Given the description of an element on the screen output the (x, y) to click on. 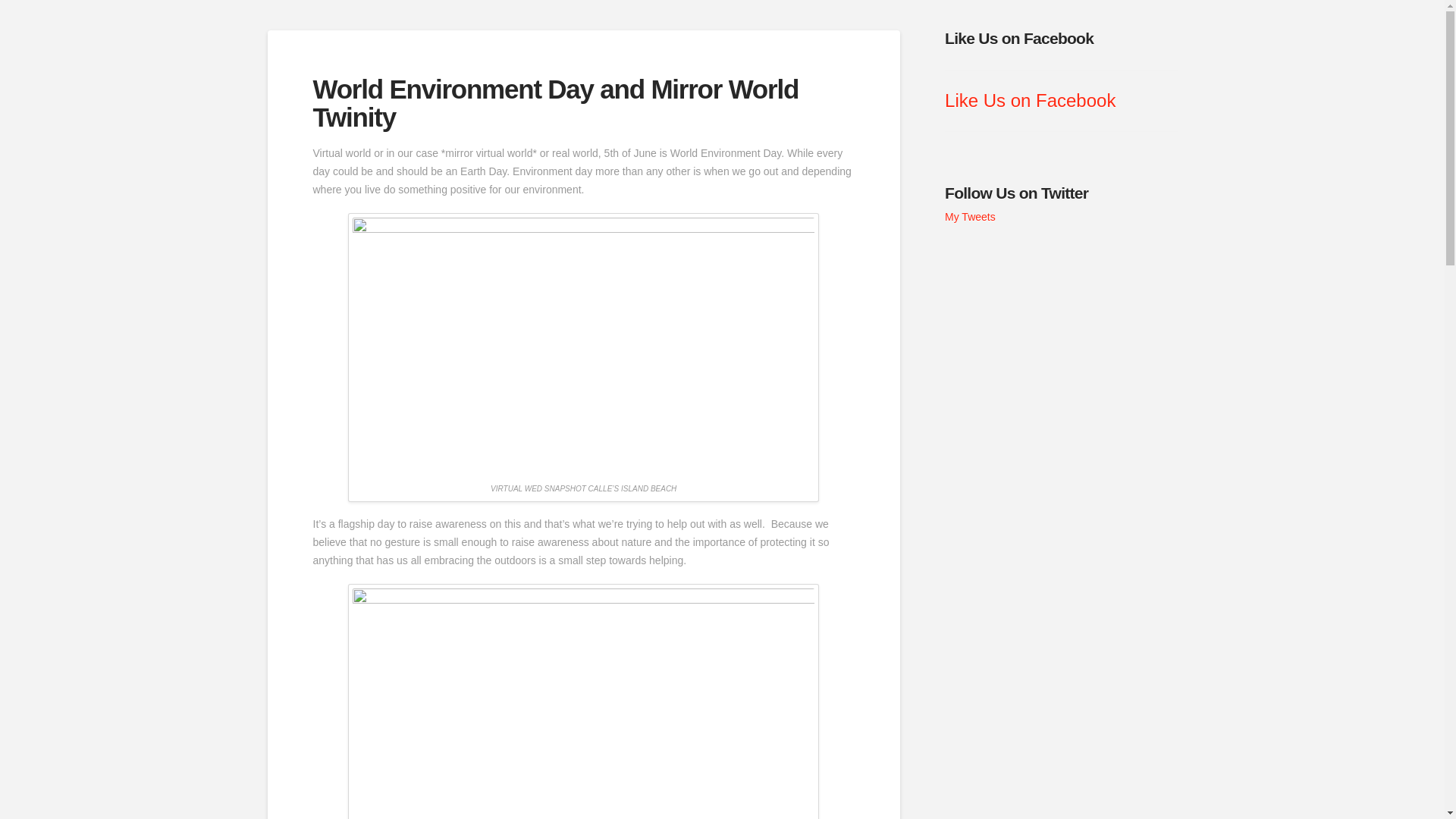
Like Us on Facebook (1018, 37)
My Tweets (969, 216)
Like Us on Facebook (1029, 100)
